Given the description of an element on the screen output the (x, y) to click on. 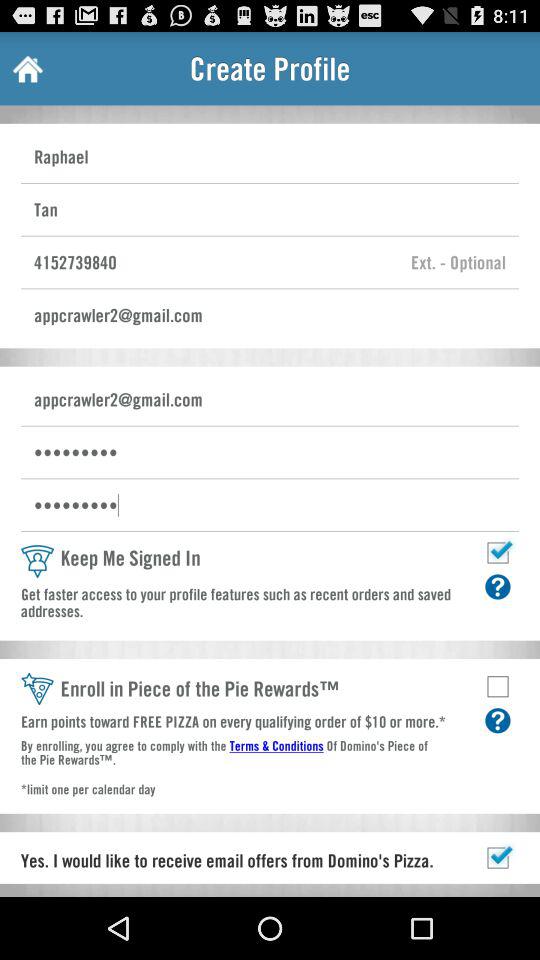
select keep signed in (498, 552)
